Given the description of an element on the screen output the (x, y) to click on. 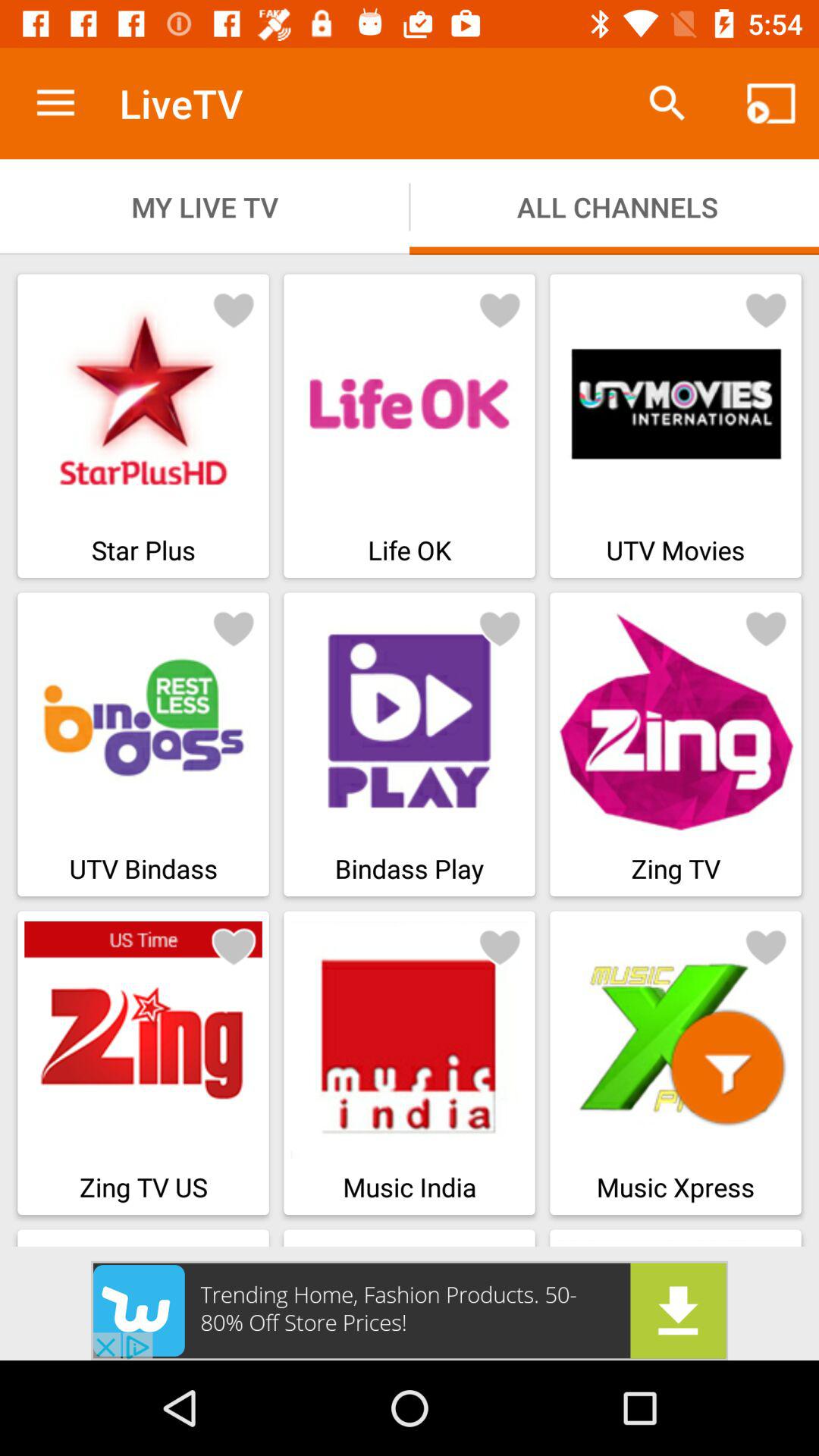
like (766, 627)
